Given the description of an element on the screen output the (x, y) to click on. 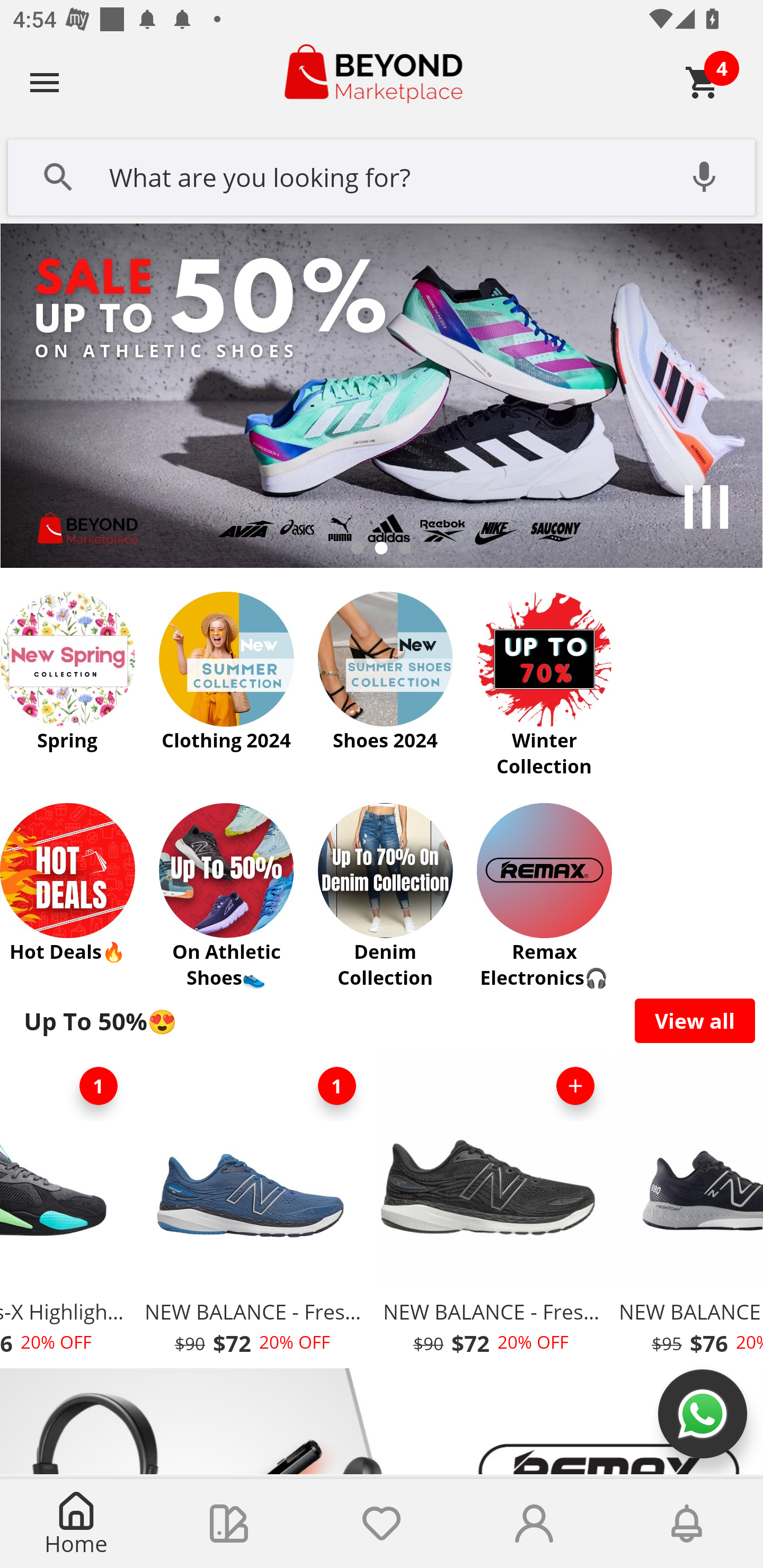
Navigate up (44, 82)
What are you looking for? (381, 175)
View all (694, 1020)
1 (98, 1085)
1 (337, 1085)
NEW BALANCE -  Fresh Foam X 880 $95 $76 20% OFF (686, 1209)
Collections (228, 1523)
Wishlist (381, 1523)
Account (533, 1523)
Notifications (686, 1523)
